Given the description of an element on the screen output the (x, y) to click on. 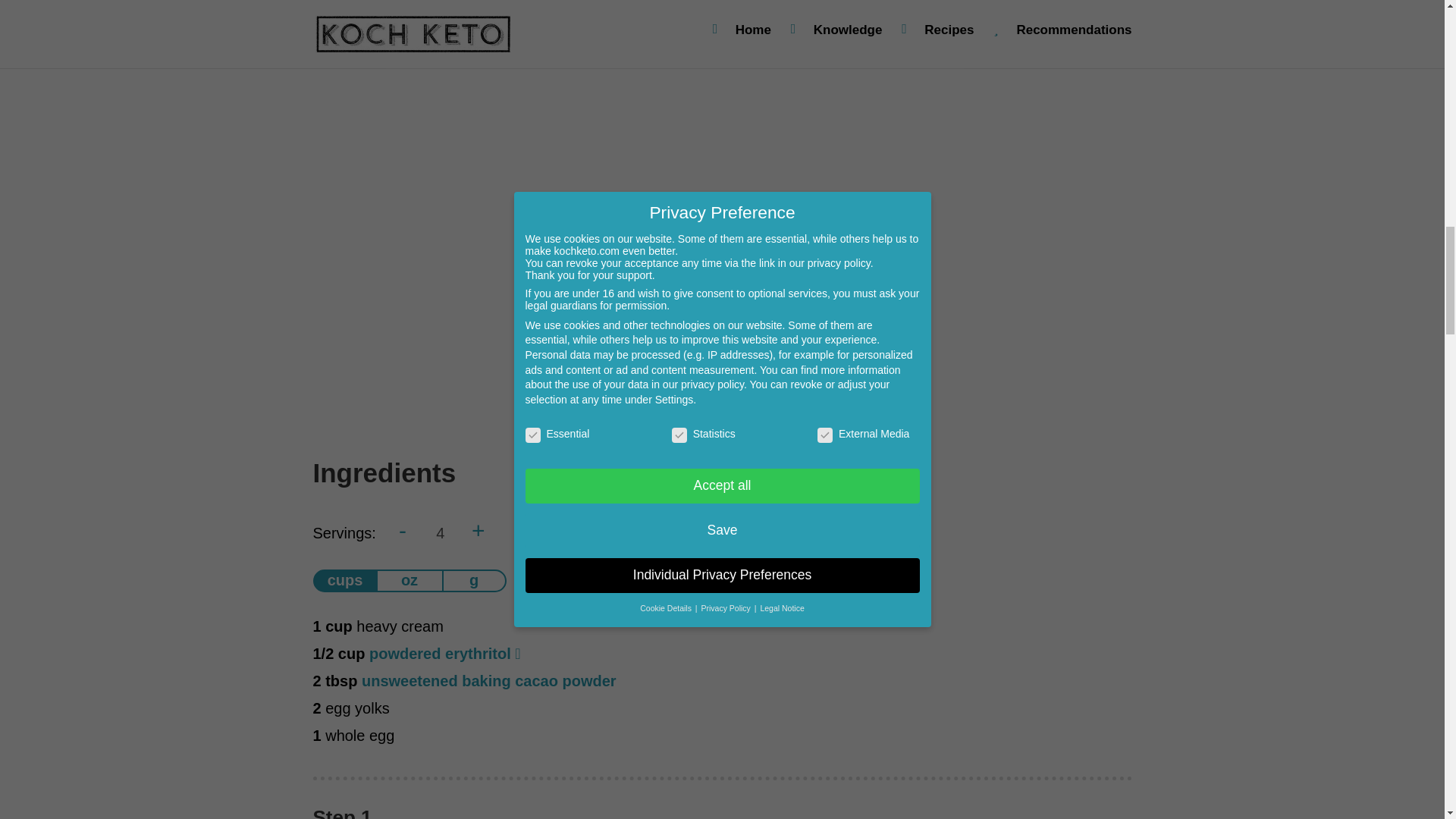
oz (409, 580)
- (402, 530)
powdered erythritol (440, 653)
g (473, 580)
cups (345, 580)
unsweetened baking cacao powder (488, 680)
4 (441, 533)
